Given the description of an element on the screen output the (x, y) to click on. 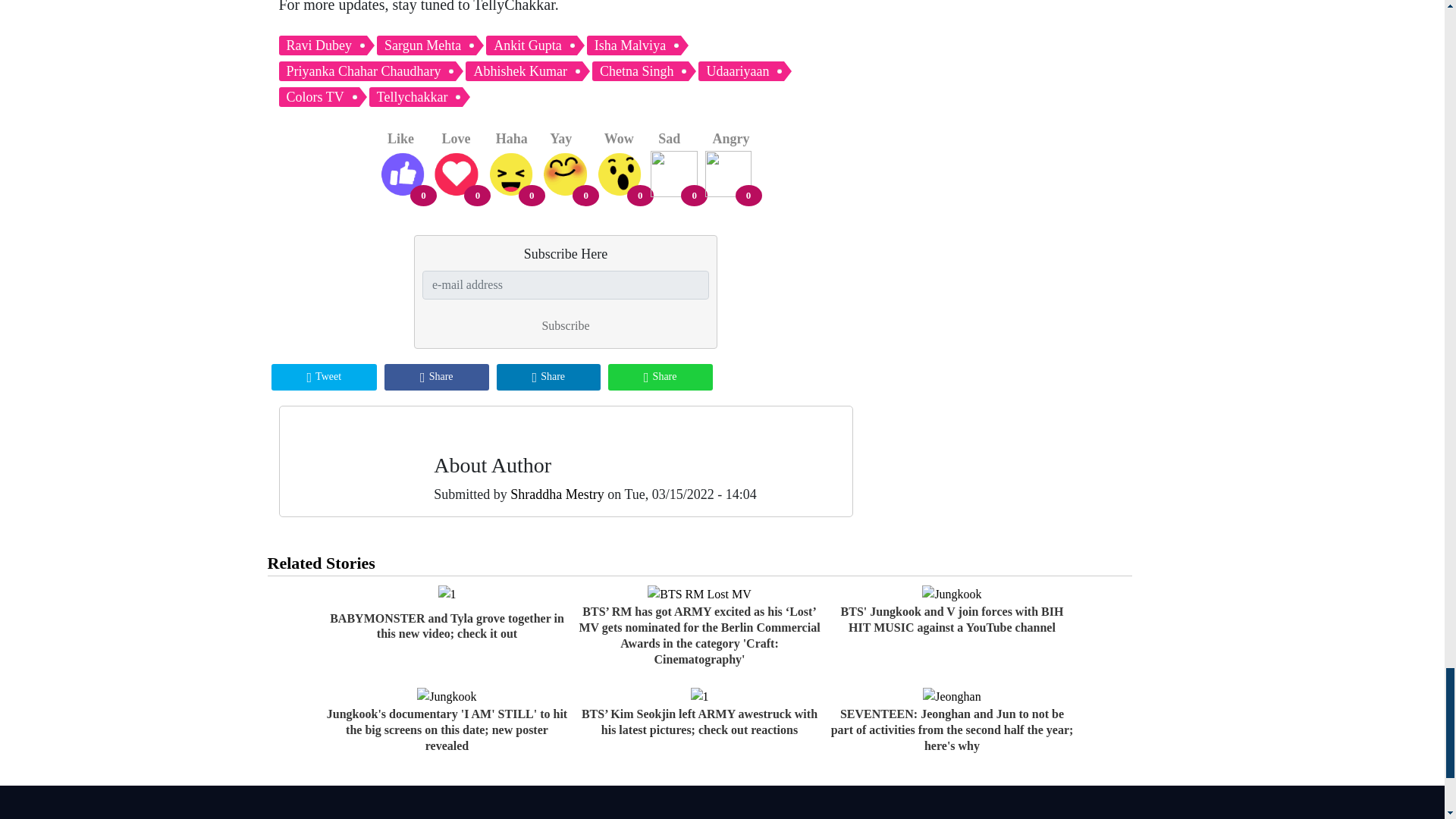
View user profile. (557, 494)
Jungkook (446, 696)
BTS RM Lost MV (699, 594)
Jungkook  (951, 594)
1 (447, 594)
1 (698, 696)
Jeonghan  (951, 696)
